Given the description of an element on the screen output the (x, y) to click on. 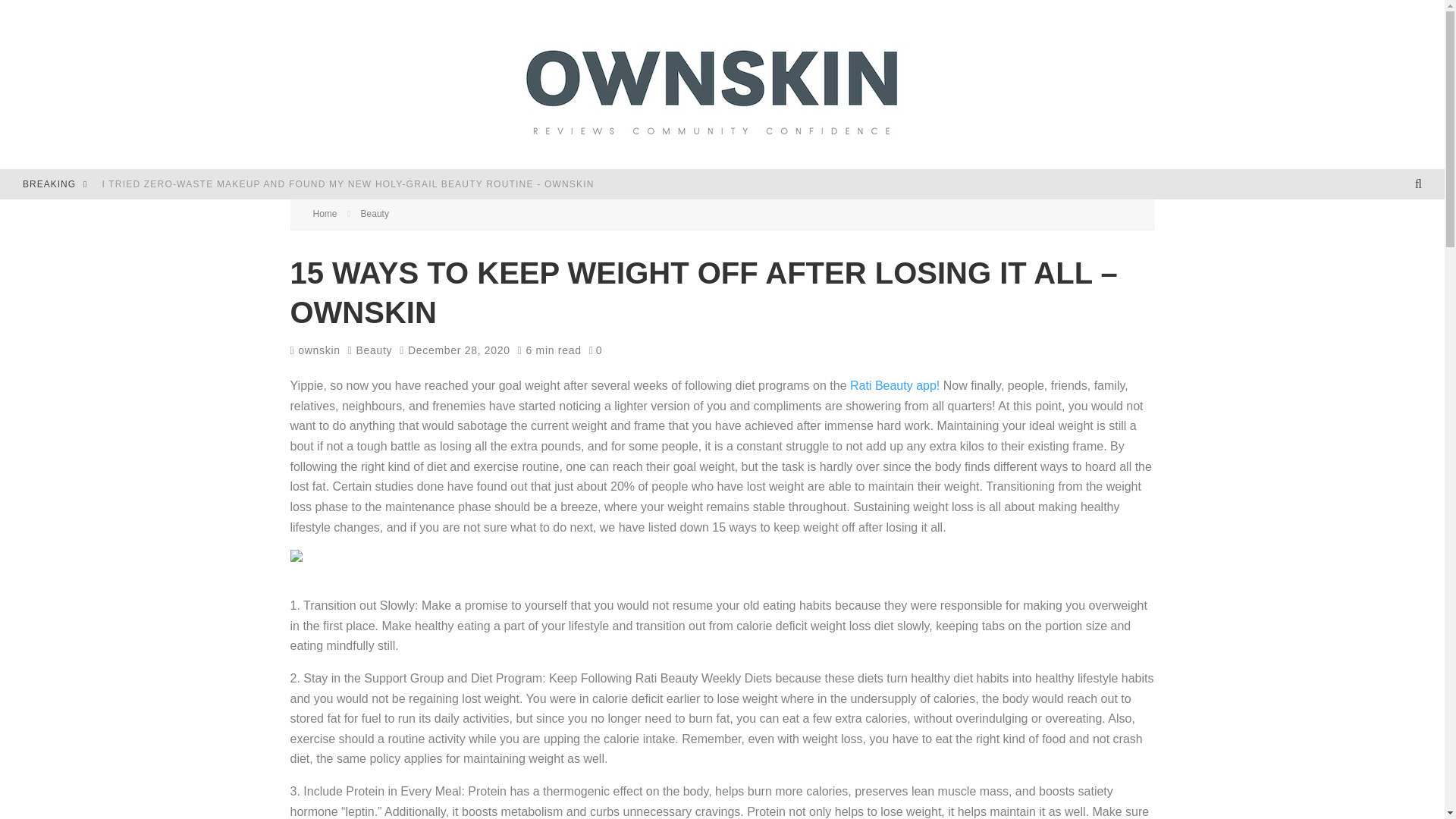
0 (595, 350)
Rati Beauty app! (894, 385)
Beauty (373, 350)
ownskin (314, 349)
Home (324, 213)
Beauty (374, 213)
